Given the description of an element on the screen output the (x, y) to click on. 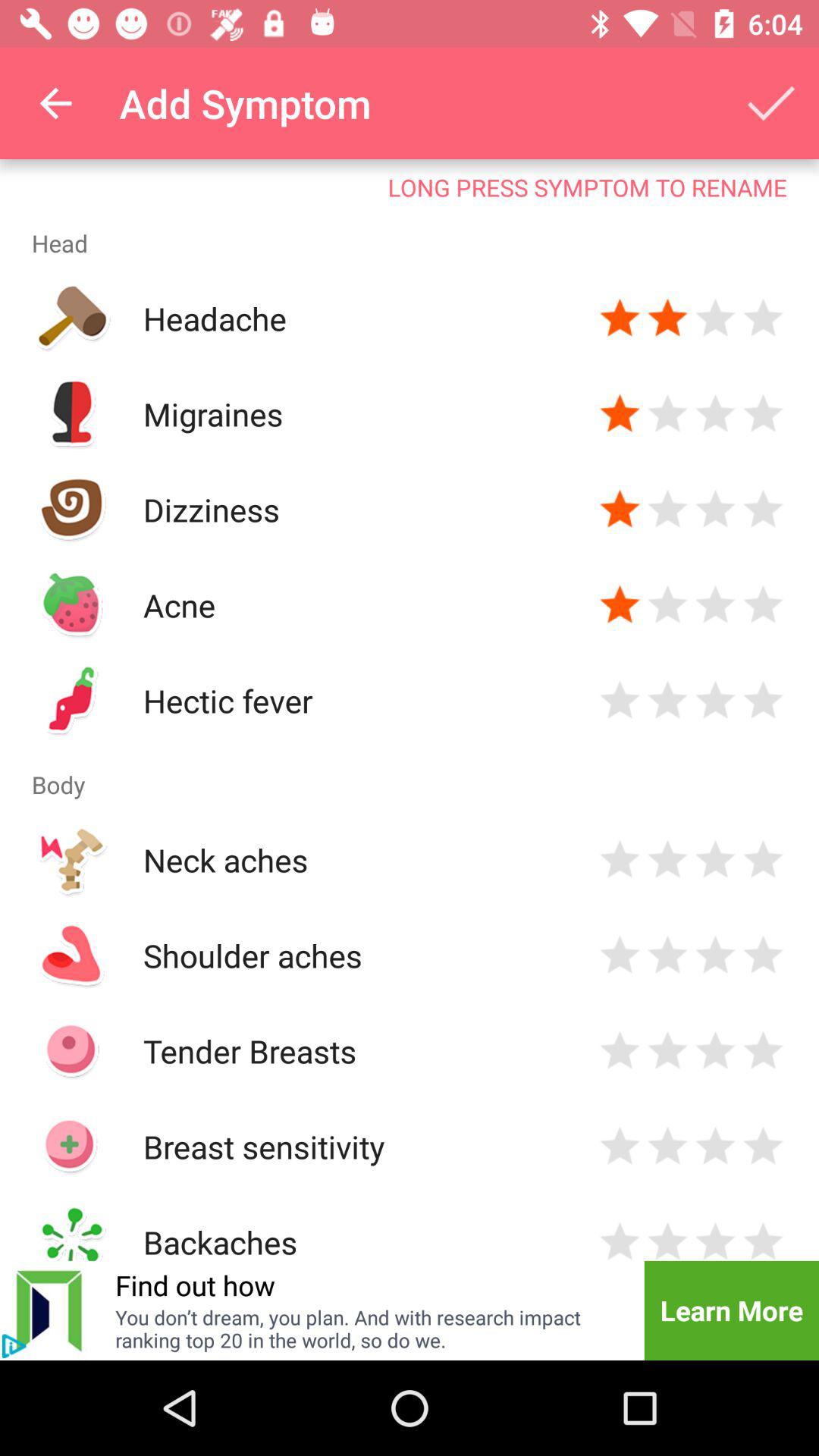
moderate hectic fever (715, 700)
